Given the description of an element on the screen output the (x, y) to click on. 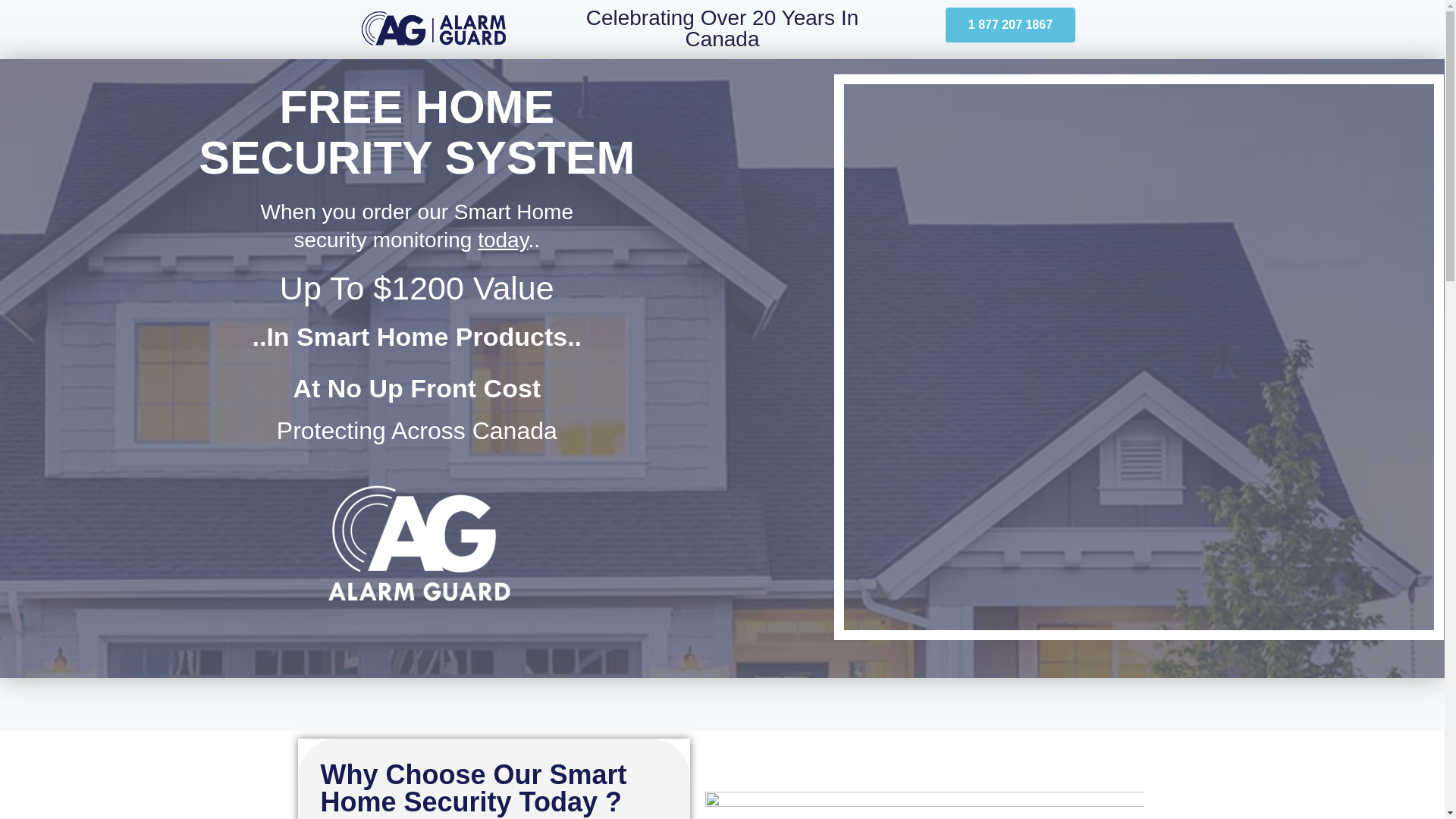
1 877 207 1867 (1009, 24)
